Given the description of an element on the screen output the (x, y) to click on. 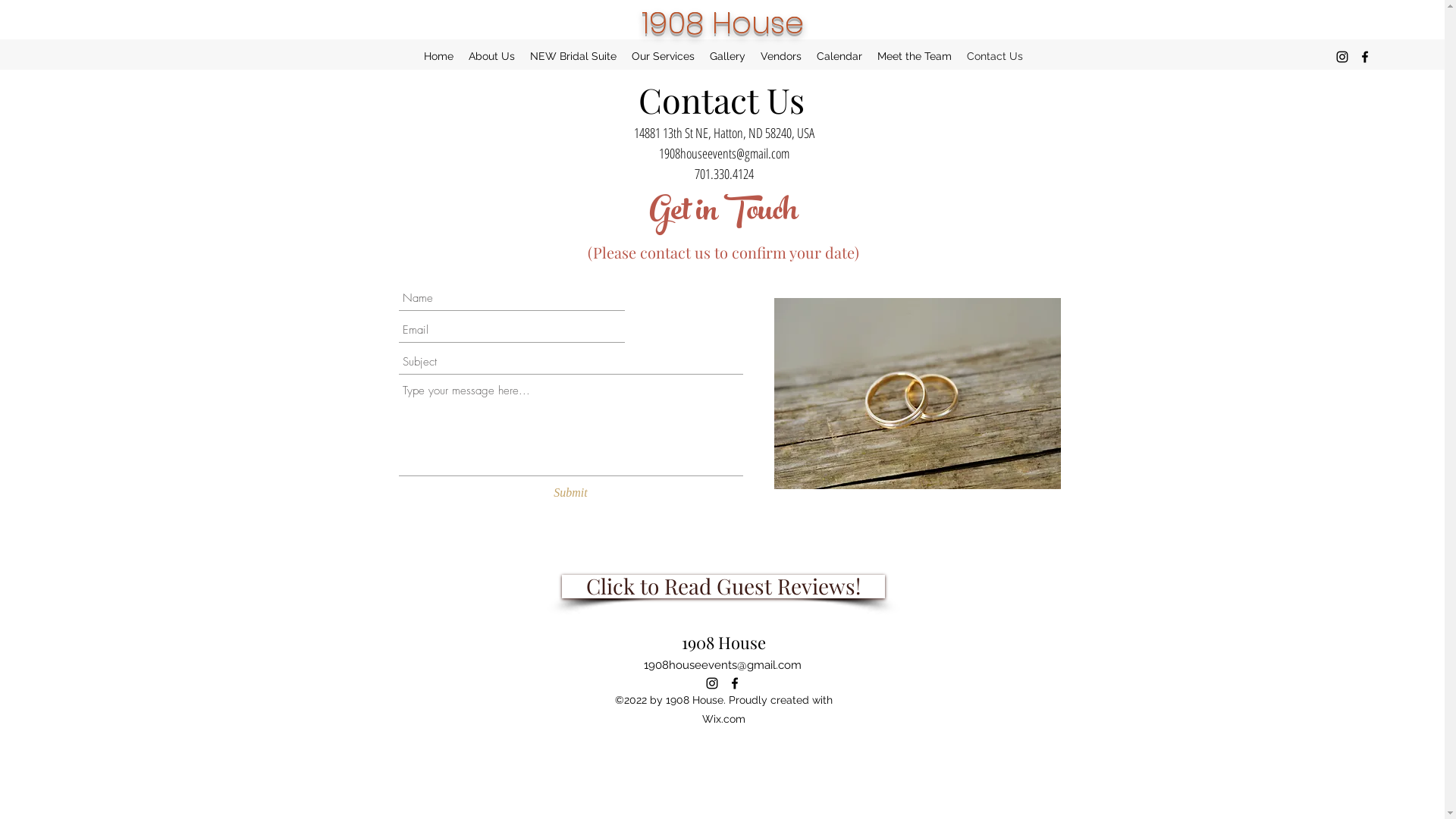
Gallery Element type: text (727, 56)
About Us Element type: text (491, 56)
Our Services Element type: text (663, 56)
Home Element type: text (438, 56)
Vendors Element type: text (781, 56)
1908houseevents@gmail.com Element type: text (721, 664)
Meet the Team Element type: text (914, 56)
Click to Read Guest Reviews! Element type: text (722, 586)
1908houseevents@gmail.com Element type: text (723, 153)
Contact Us Element type: text (994, 56)
Calendar Element type: text (839, 56)
Submit Element type: text (570, 492)
NEW Bridal Suite Element type: text (573, 56)
